Given the description of an element on the screen output the (x, y) to click on. 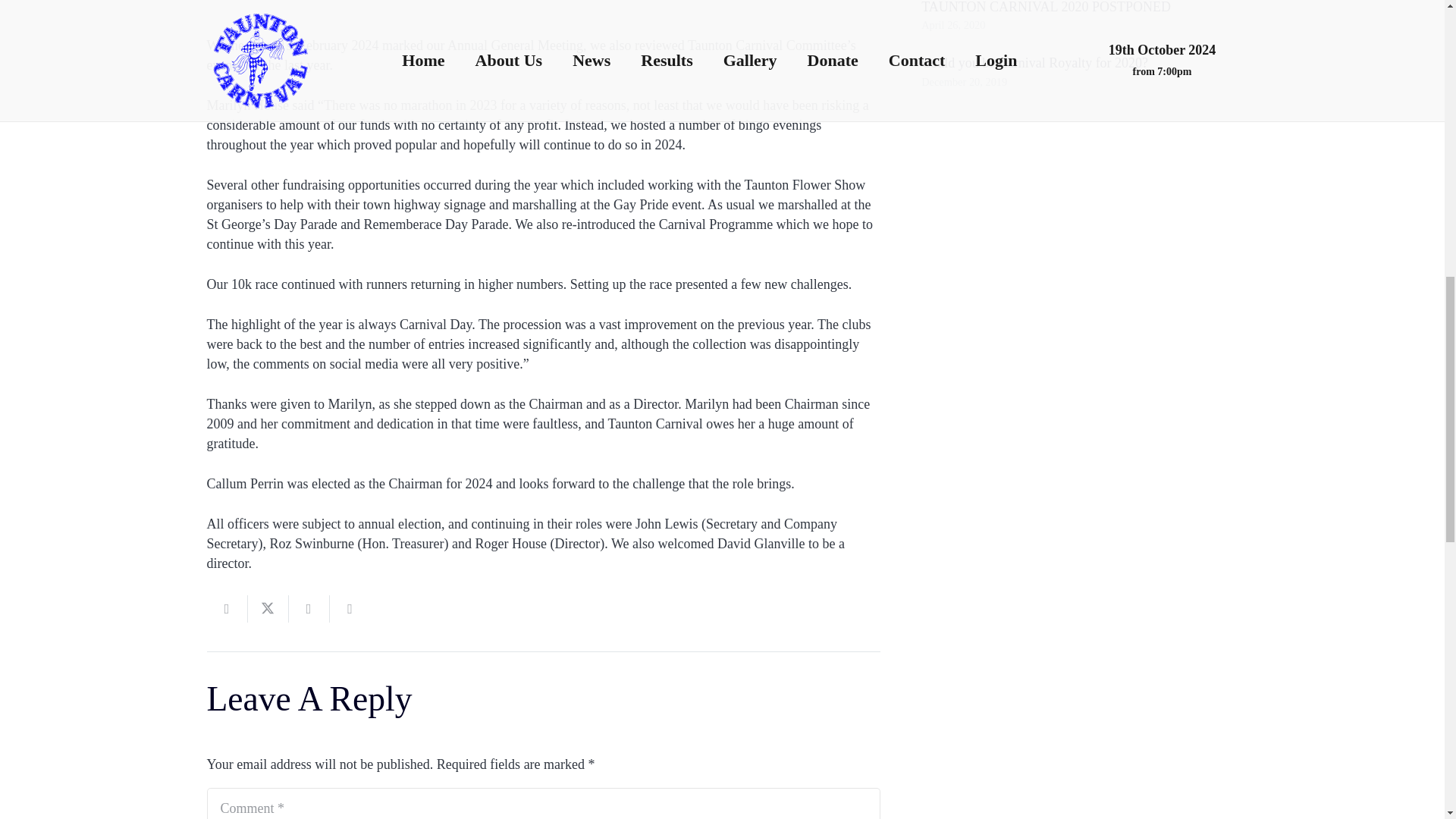
TAUNTON CARNIVAL 2020 POSTPONED (1045, 6)
Could you be Carnival Royalty for 2020? (1034, 62)
Share this (308, 608)
Tweet this (267, 608)
Share this (349, 608)
Share this (226, 608)
